Given the description of an element on the screen output the (x, y) to click on. 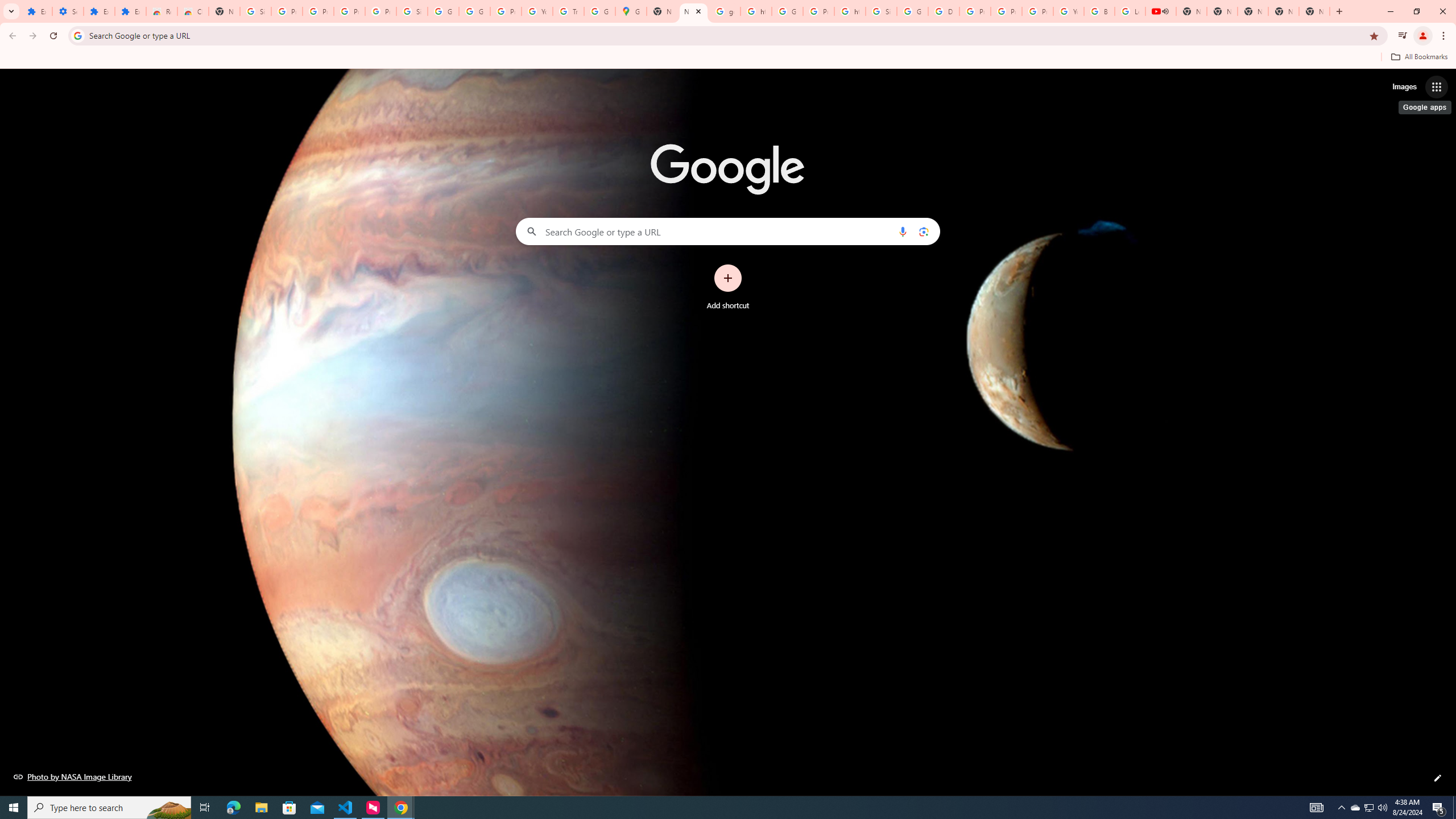
Settings (67, 11)
Sign in - Google Accounts (411, 11)
Back (10, 35)
Search by image (922, 230)
Address and search bar (725, 35)
